Given the description of an element on the screen output the (x, y) to click on. 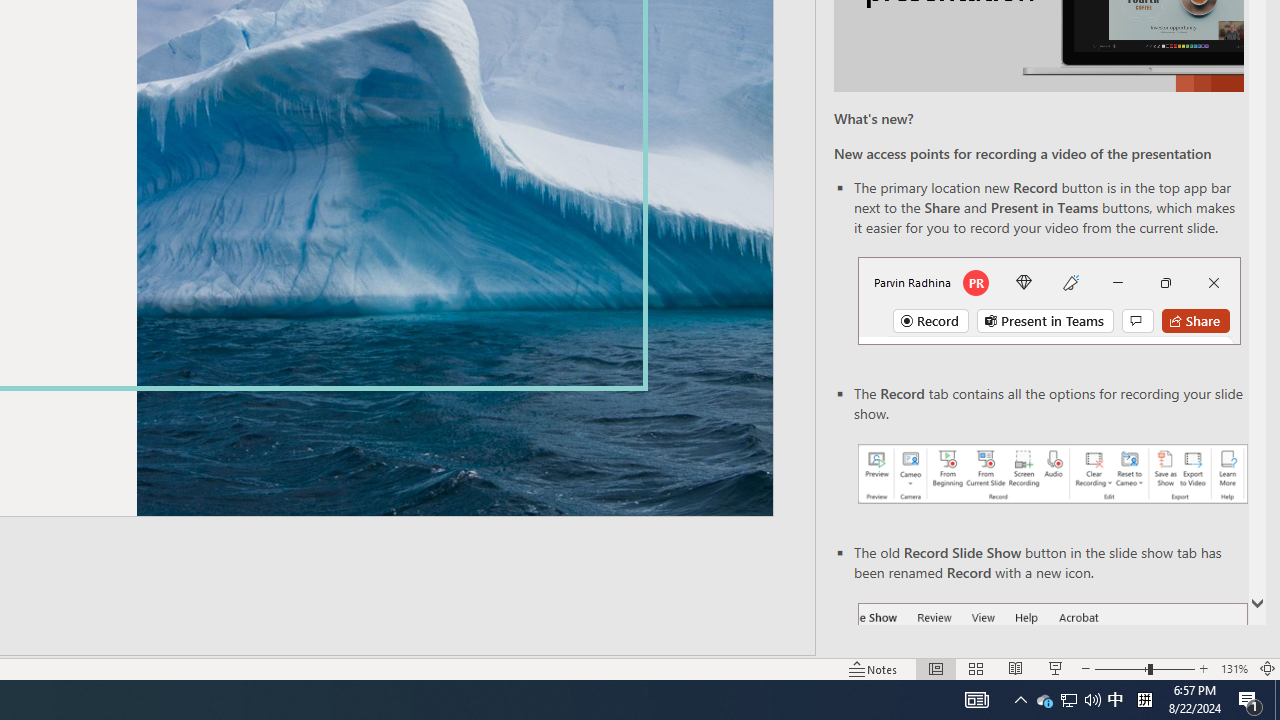
Zoom 131% (1234, 668)
Record your presentations screenshot one (1052, 473)
Record button in top bar (1049, 300)
